Given the description of an element on the screen output the (x, y) to click on. 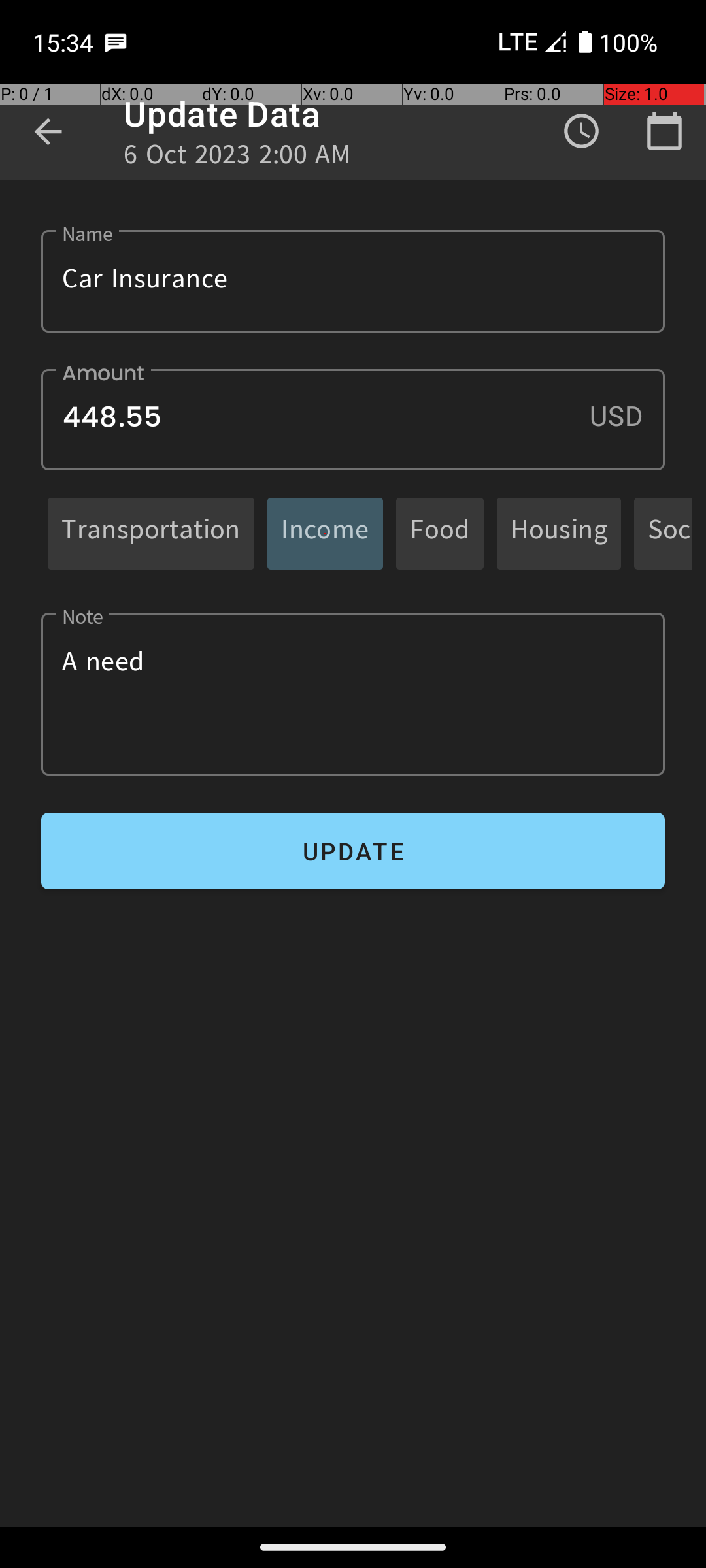
6 Oct 2023 2:00 AM Element type: android.widget.TextView (237, 157)
Car Insurance Element type: android.widget.EditText (352, 280)
448.55 Element type: android.widget.EditText (352, 419)
Transportation Element type: android.widget.TextView (150, 533)
